Given the description of an element on the screen output the (x, y) to click on. 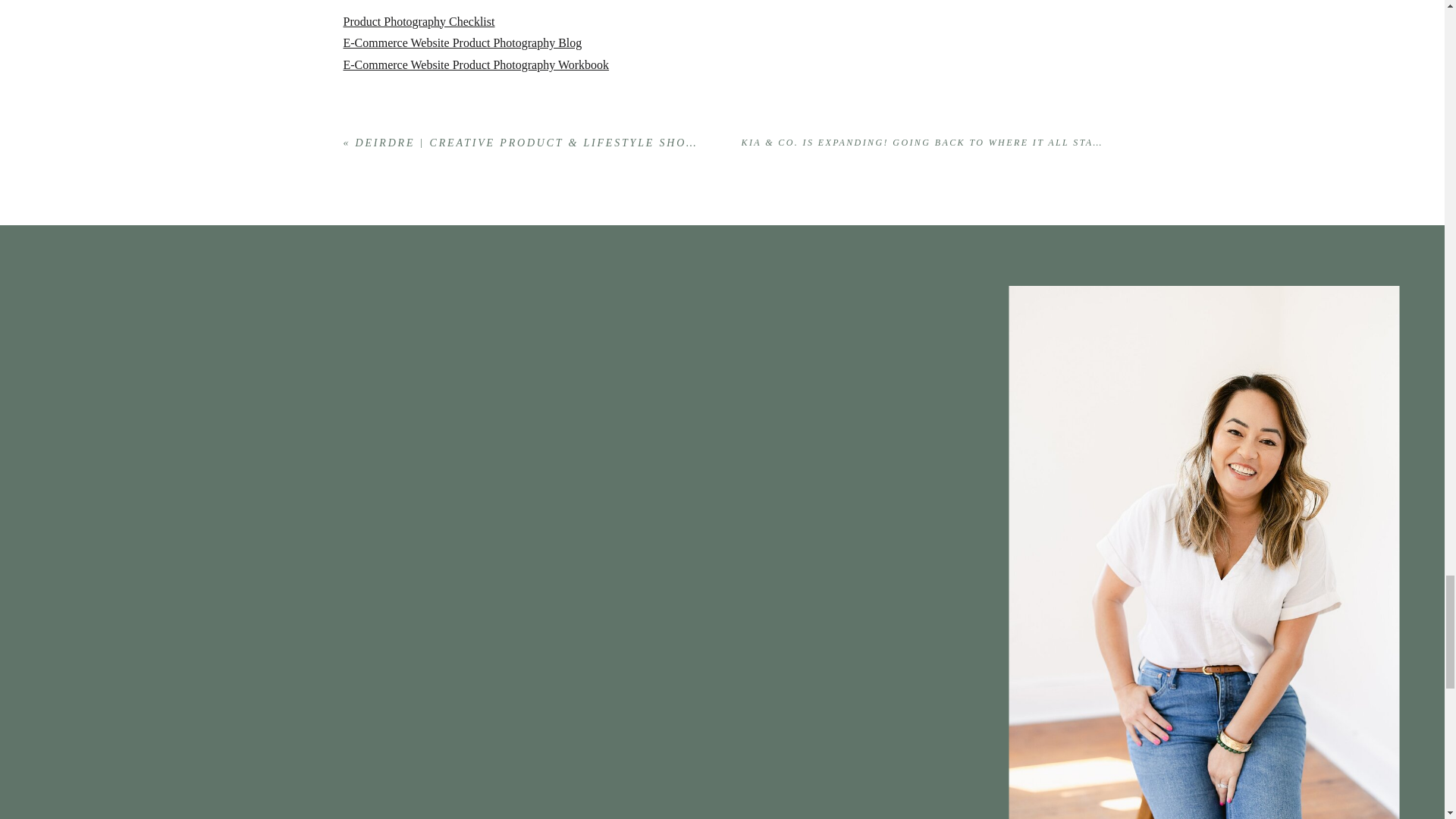
Product Photography Checklist (418, 21)
E-Commerce Website Product Photography Blog (461, 42)
E-Commerce Website Product Photography Workbook (475, 64)
